Given the description of an element on the screen output the (x, y) to click on. 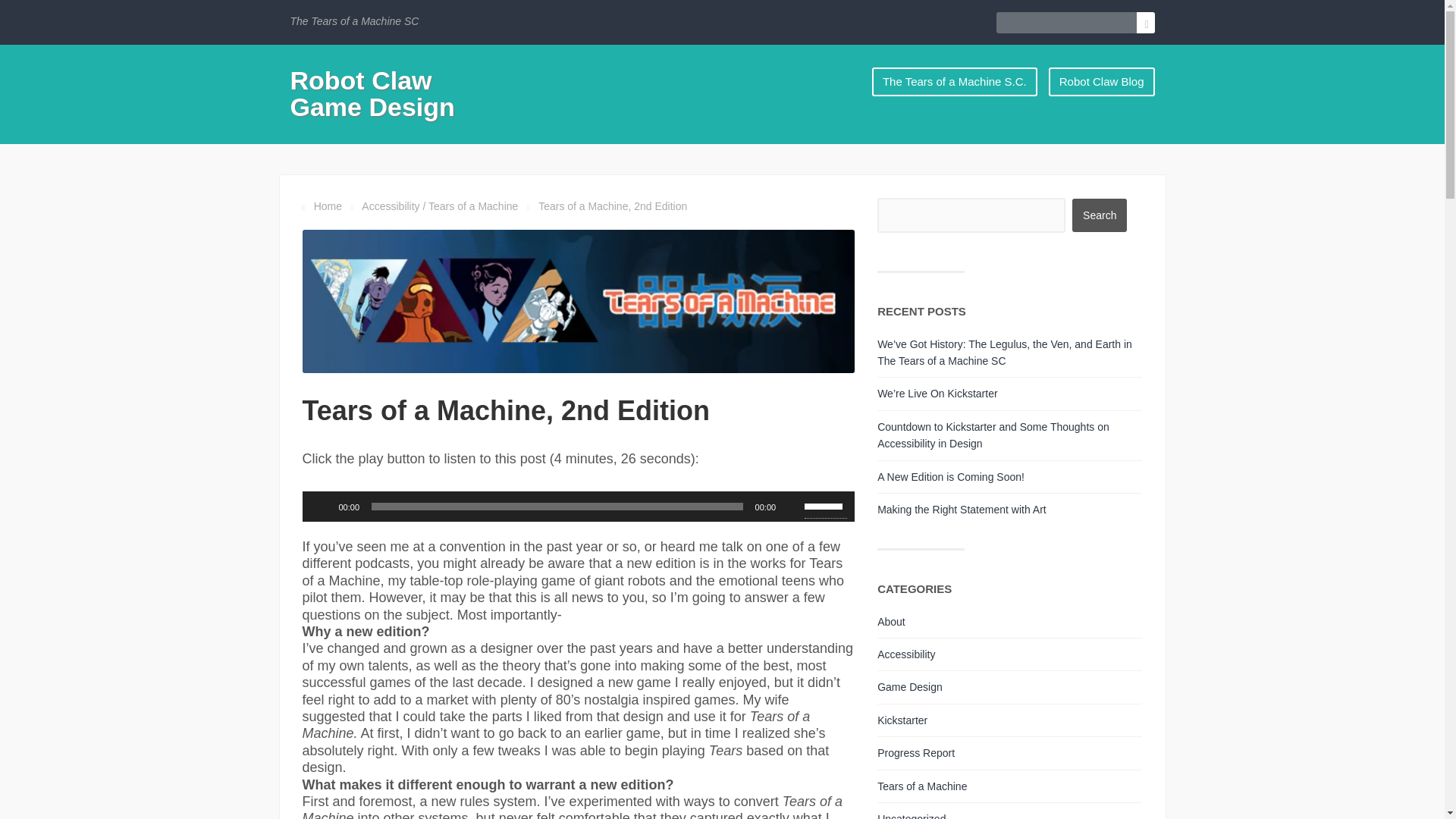
Accessibility (390, 205)
Search (1098, 215)
About (891, 621)
Robot Claw Blog (1101, 81)
Uncategorized (910, 816)
Game Design (909, 686)
Tears of a Machine (473, 205)
Kickstarter (902, 720)
Robot Claw Game Design (371, 93)
Mute (791, 506)
Home (328, 205)
Making the Right Statement with Art (961, 509)
Progress Report (916, 752)
Play (321, 506)
